Given the description of an element on the screen output the (x, y) to click on. 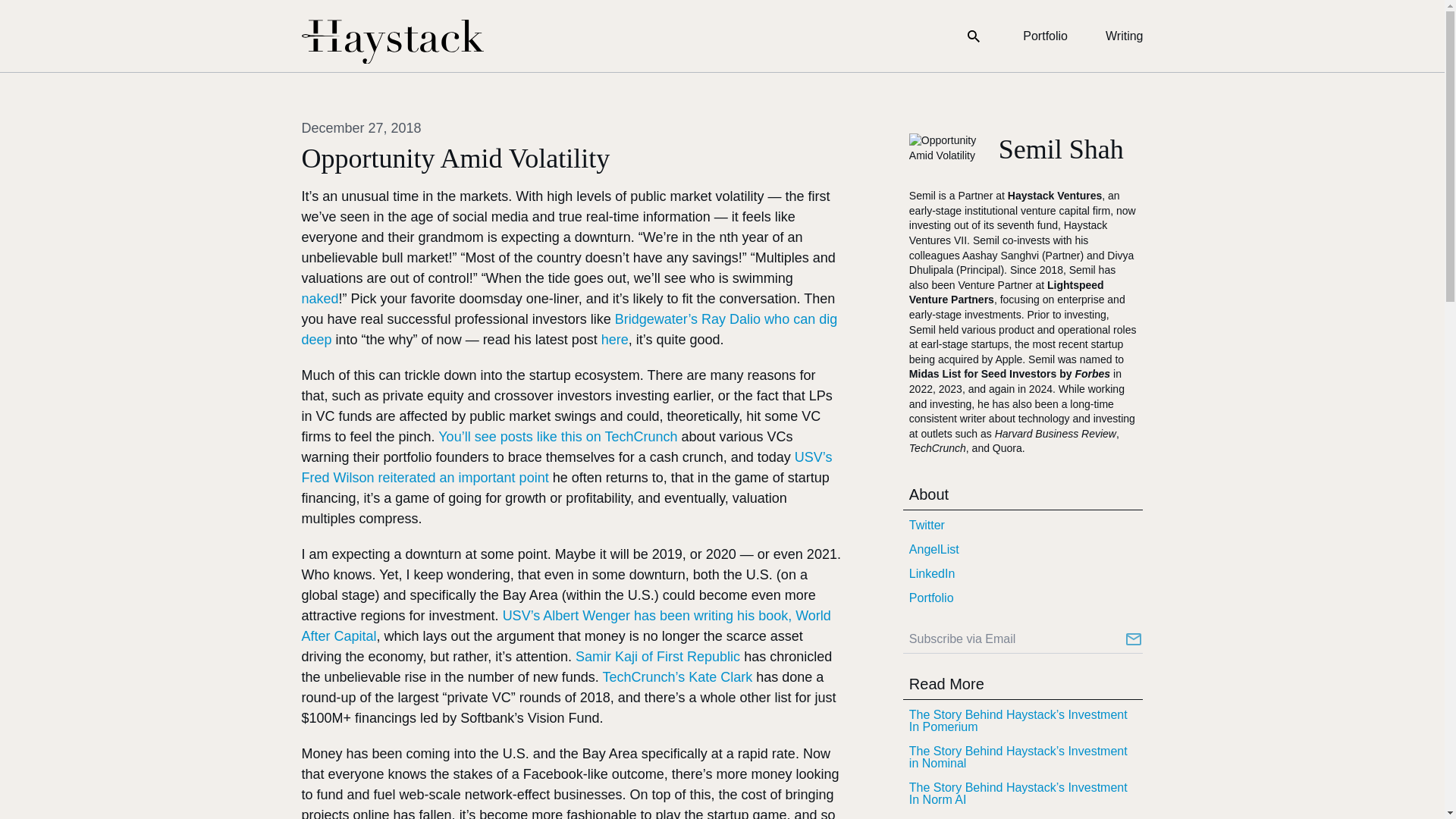
Semil Shah Blog (392, 41)
Portfolio (1022, 598)
Twitter (1022, 525)
Subscribe (1133, 638)
AngelList (1022, 549)
LinkedIn (1022, 573)
here (614, 339)
Samir Kaji of First Republic (657, 656)
Portfolio (1045, 36)
Writing (1123, 36)
naked (320, 298)
Subscribe (1133, 638)
